Given the description of an element on the screen output the (x, y) to click on. 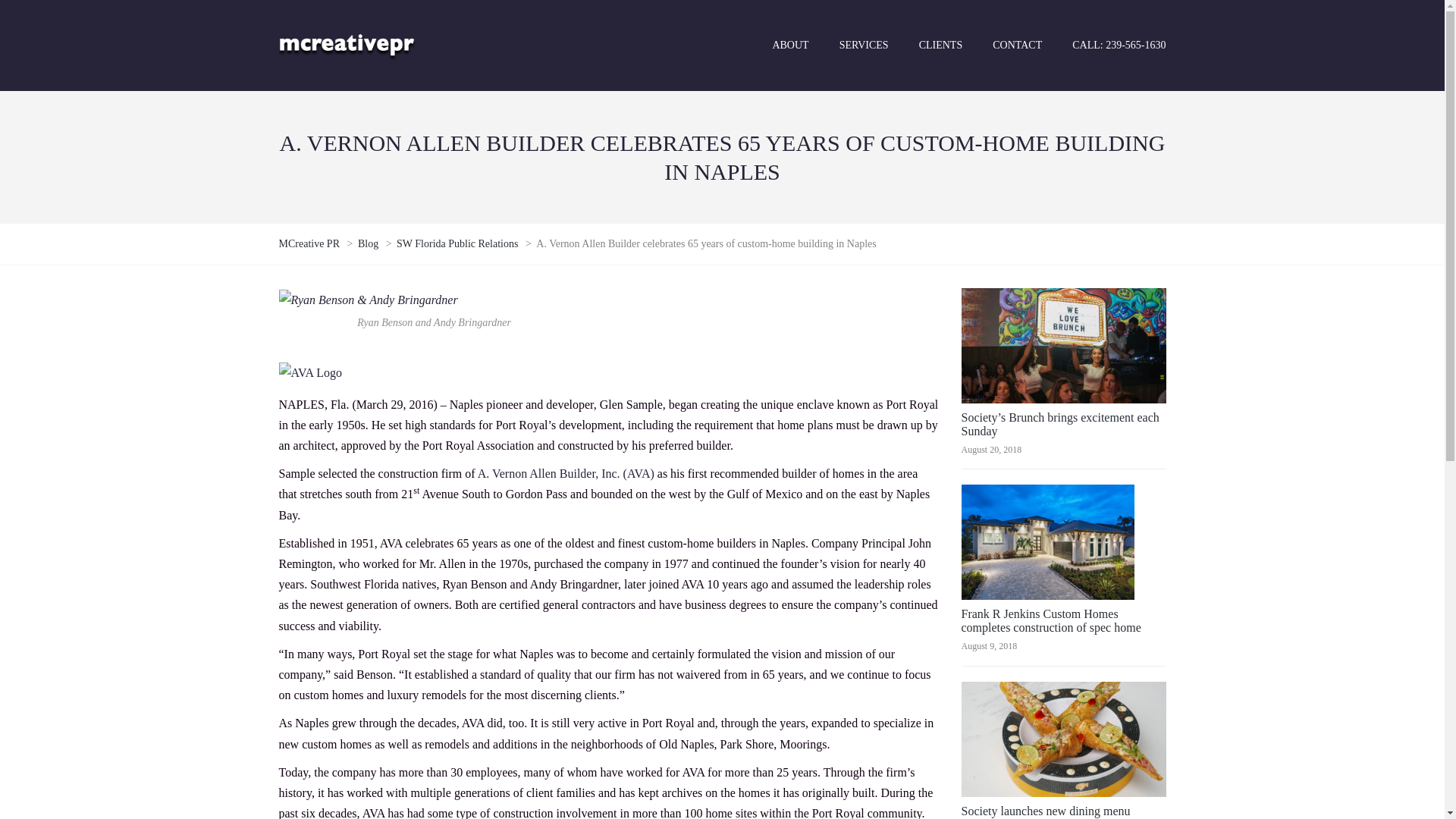
Go to MCreative PR. (310, 243)
CLIENTS (941, 45)
Go to the SW Florida Public Relations Category archives. (457, 243)
CONTACT (1016, 45)
CALL: 239-565-1630 (1111, 45)
SERVICES (864, 45)
ABOUT (790, 45)
Blog (369, 243)
Go to Blog. (369, 243)
MCreative PR (310, 243)
SW Florida Public Relations (457, 243)
